Given the description of an element on the screen output the (x, y) to click on. 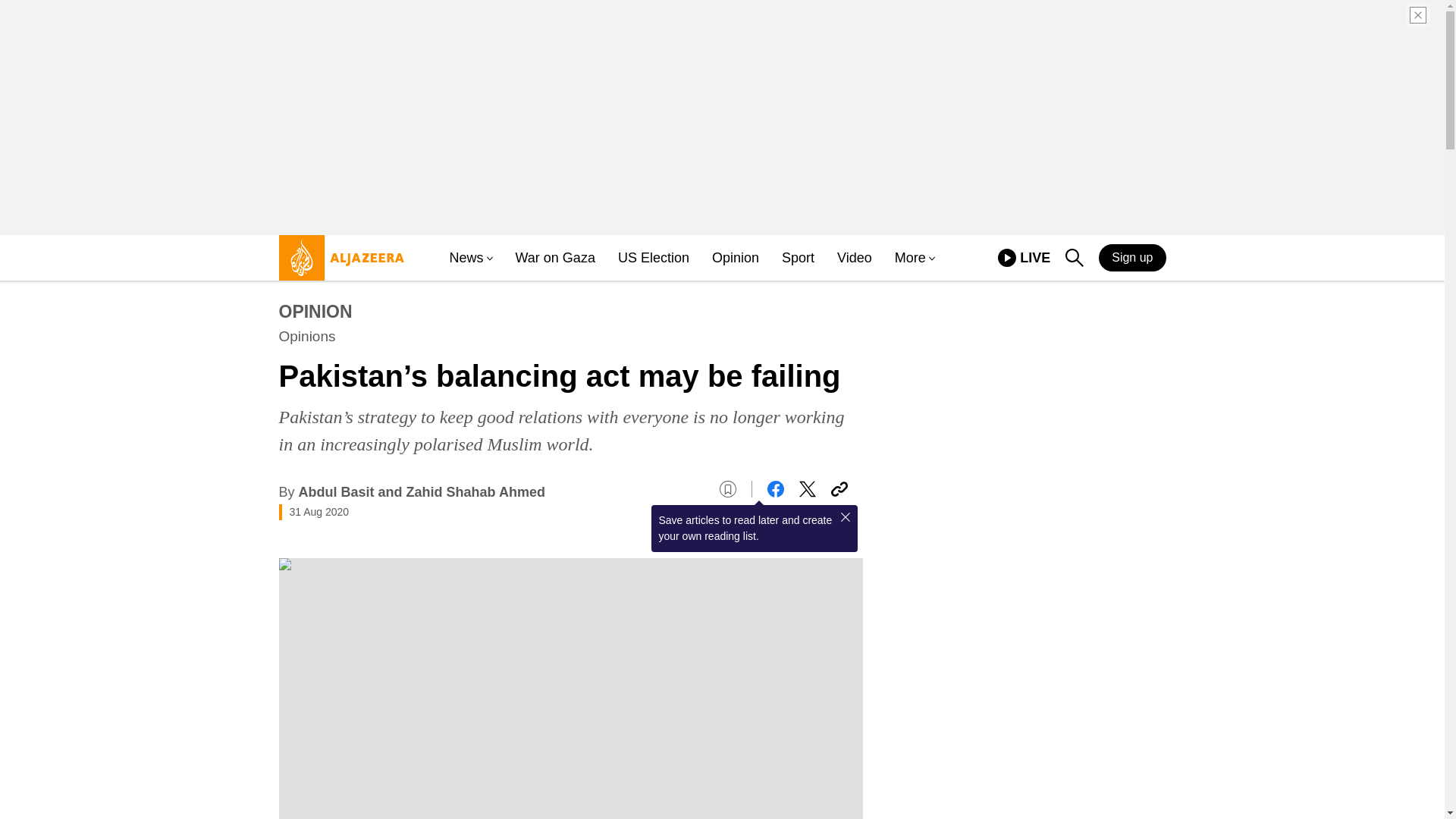
Sign up (1132, 257)
Abdul Basit (336, 491)
twitter (1023, 257)
play (807, 488)
copylink (1006, 257)
twitter (839, 488)
War on Gaza (807, 488)
News (555, 257)
